Given the description of an element on the screen output the (x, y) to click on. 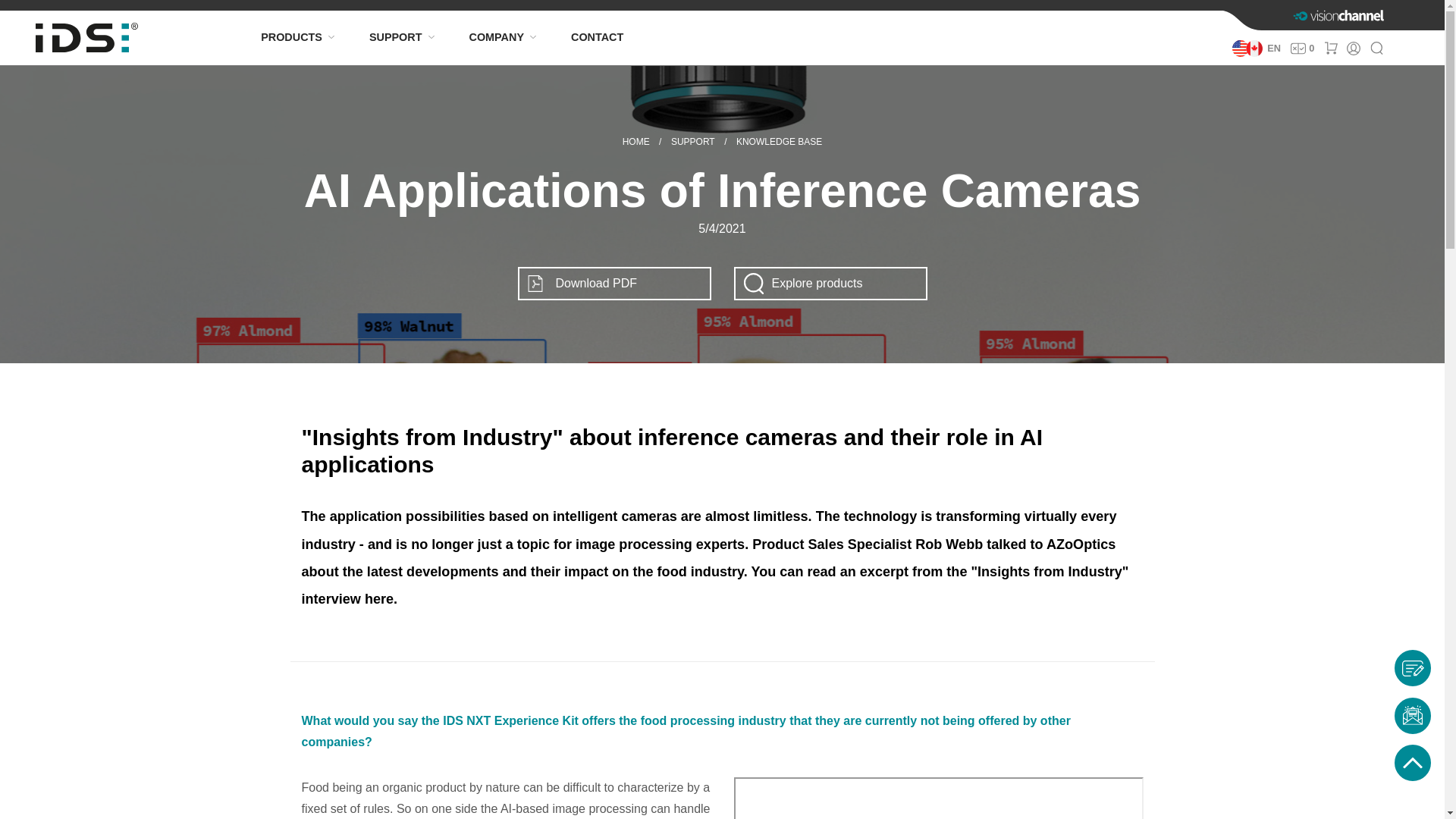
0 (1303, 48)
Support (692, 141)
SUPPORT (394, 37)
IDS Vision Channel (1339, 15)
IDS Imaging Development Systems Inc (636, 141)
Knowledge Base I Know-how database (779, 141)
PRODUCTS (291, 37)
CONTACT (593, 37)
COMPANY (496, 37)
EN (1256, 48)
